Given the description of an element on the screen output the (x, y) to click on. 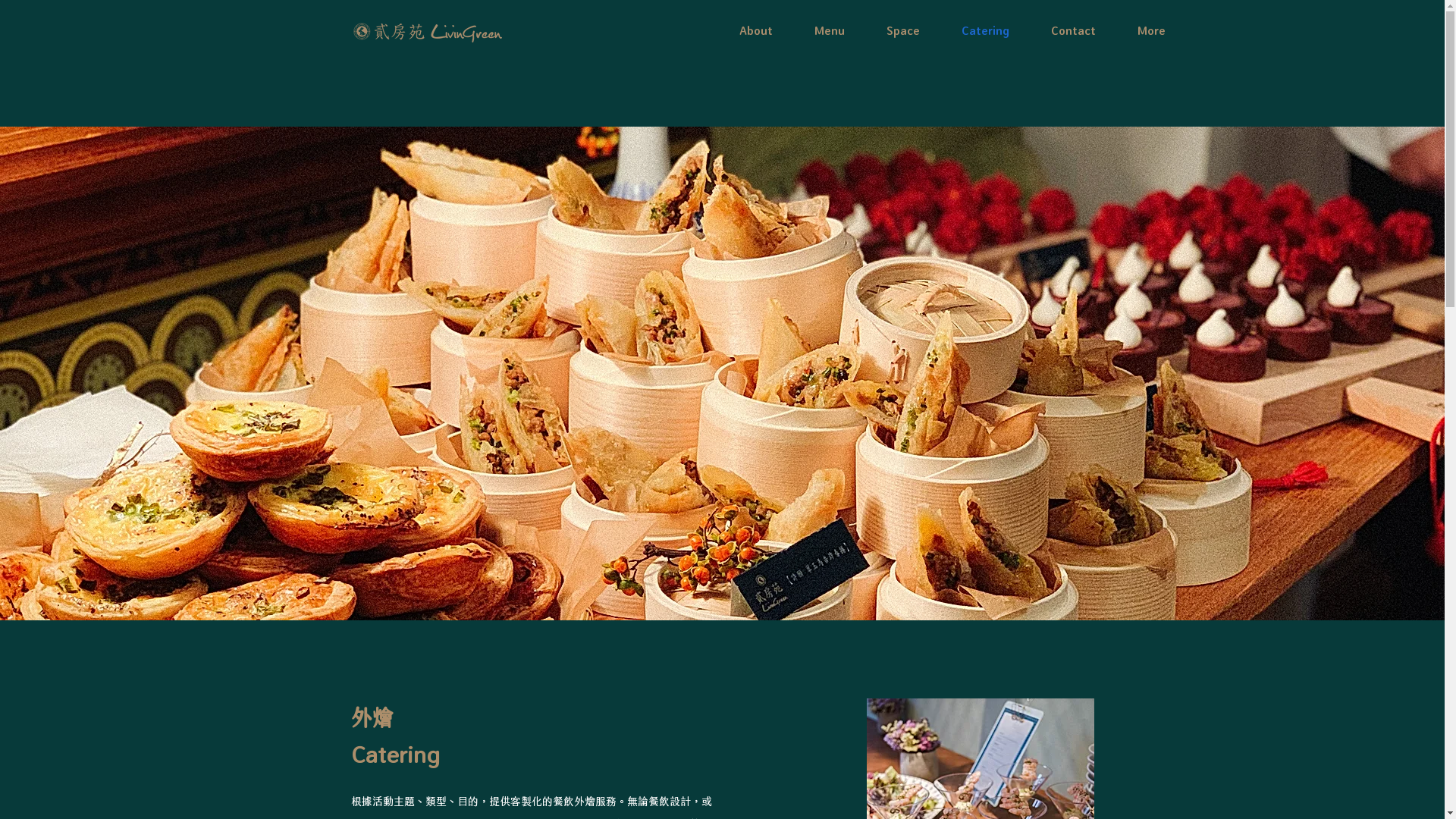
Space Element type: text (903, 29)
About Element type: text (755, 29)
Catering Element type: text (984, 29)
Menu Element type: text (829, 29)
Contact Element type: text (1072, 29)
